Given the description of an element on the screen output the (x, y) to click on. 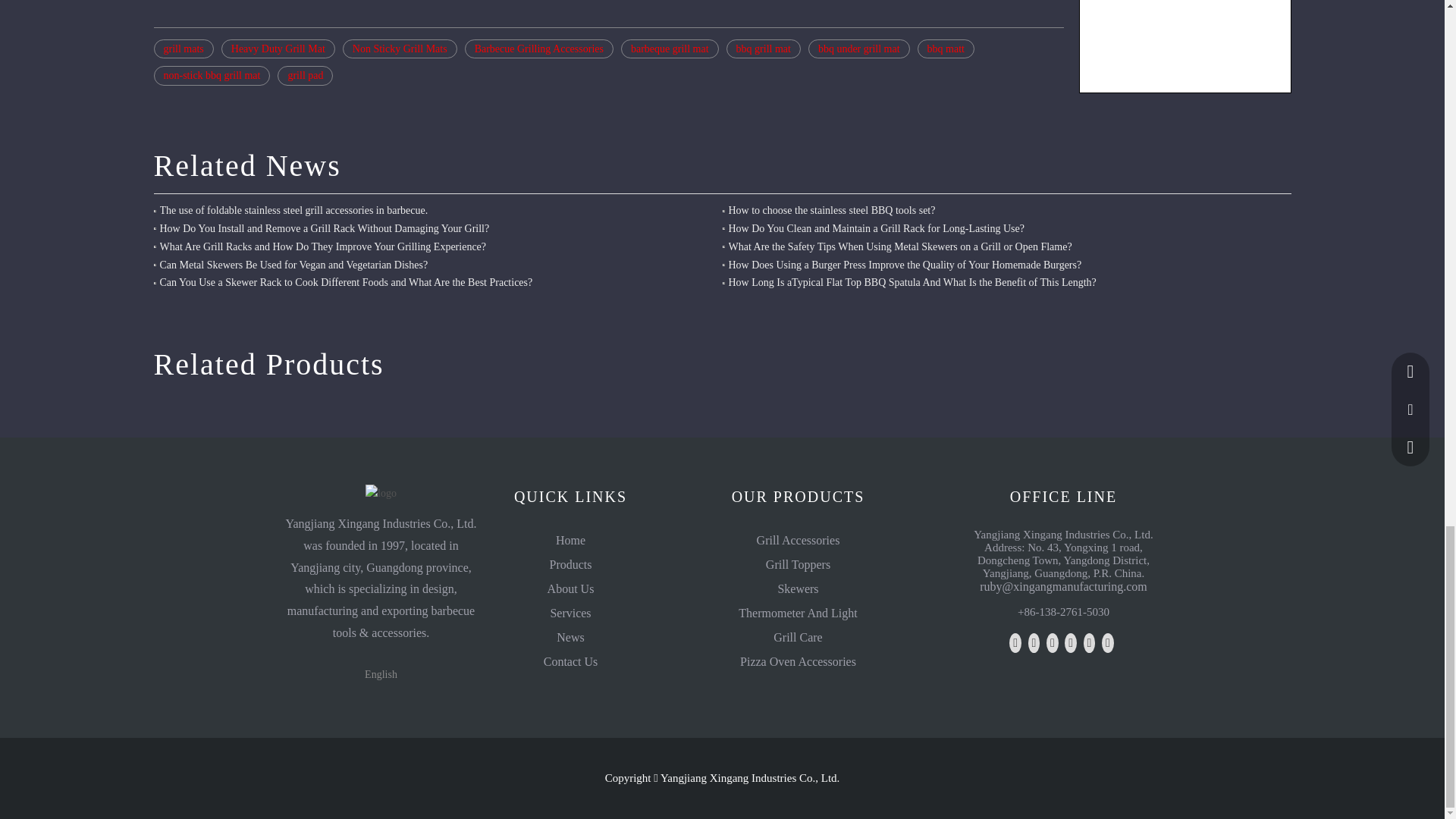
Barbecue Grilling Accessories (538, 48)
Non Sticky Grill Mats (399, 48)
bbq under grill mat (859, 48)
grill mats (182, 48)
grill pad (305, 75)
Barbecue Grilling Accessories (538, 48)
Heavy Duty Grill Mat (277, 48)
barbeque grill mat (670, 48)
bbq matt (945, 48)
bbq grill mat (763, 48)
grill mats (182, 48)
bbq under grill mat (859, 48)
bbq grill mat (763, 48)
Heavy Duty Grill Mat (277, 48)
